Given the description of an element on the screen output the (x, y) to click on. 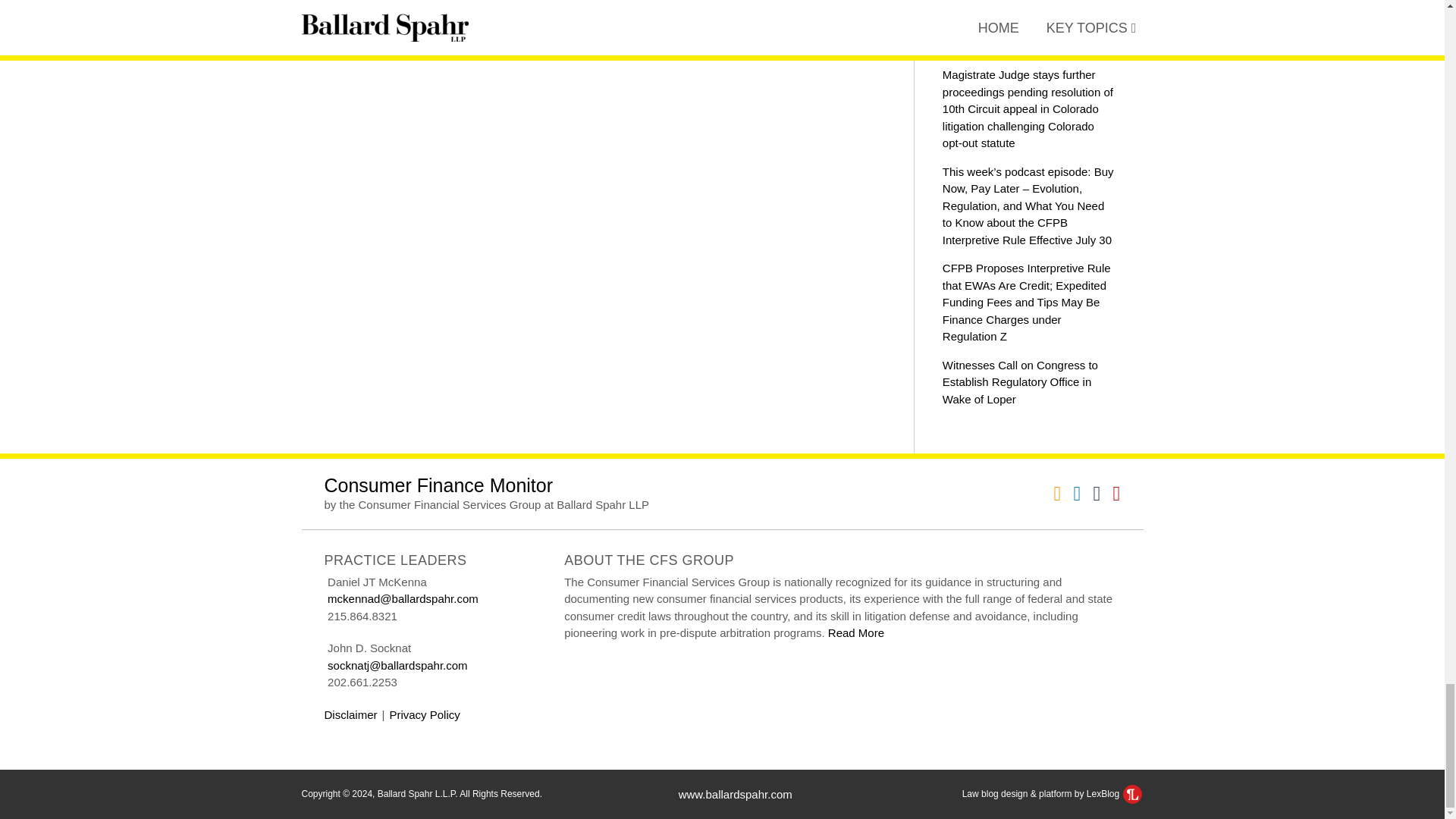
LexBlog Logo (1131, 793)
